Given the description of an element on the screen output the (x, y) to click on. 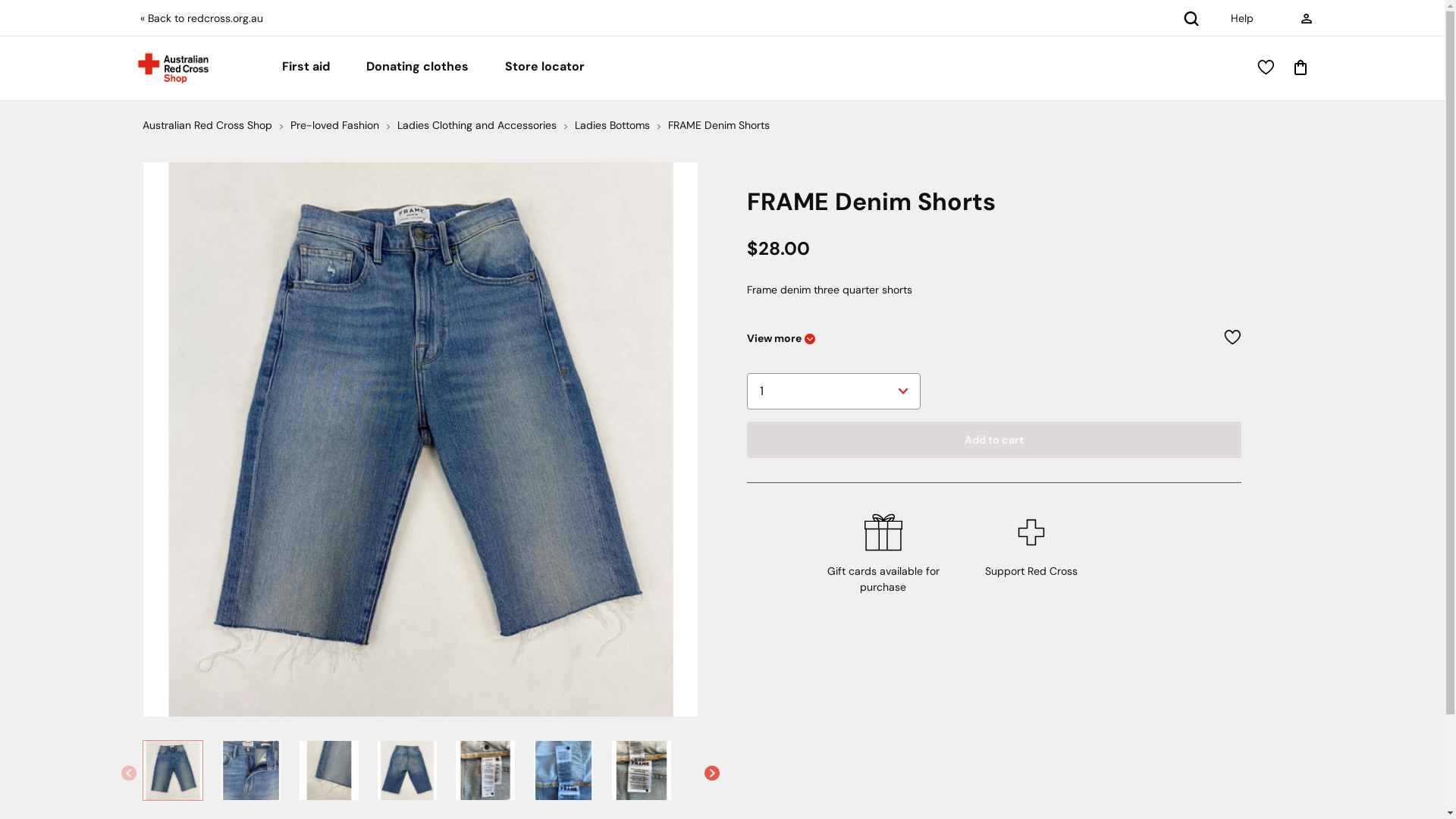
FRAME Denim Shorts Element type: text (717, 125)
Store locator Element type: text (544, 68)
View wishlist Element type: text (1262, 67)
Login Element type: text (1305, 17)
Previous Element type: text (128, 772)
Help Element type: text (1240, 17)
First aid Element type: text (305, 68)
Pre-loved Fashion Element type: text (333, 125)
Search Element type: text (1190, 17)
Australian Red Cross Shop Element type: text (207, 125)
Next Element type: text (710, 772)
Ladies Bottoms Element type: text (611, 125)
Add to cart Element type: text (993, 439)
Ladies Clothing and Accessories Element type: text (476, 125)
View more Element type: text (780, 338)
Open mini cart Element type: text (1296, 67)
Donating clothes Element type: text (417, 68)
